Given the description of an element on the screen output the (x, y) to click on. 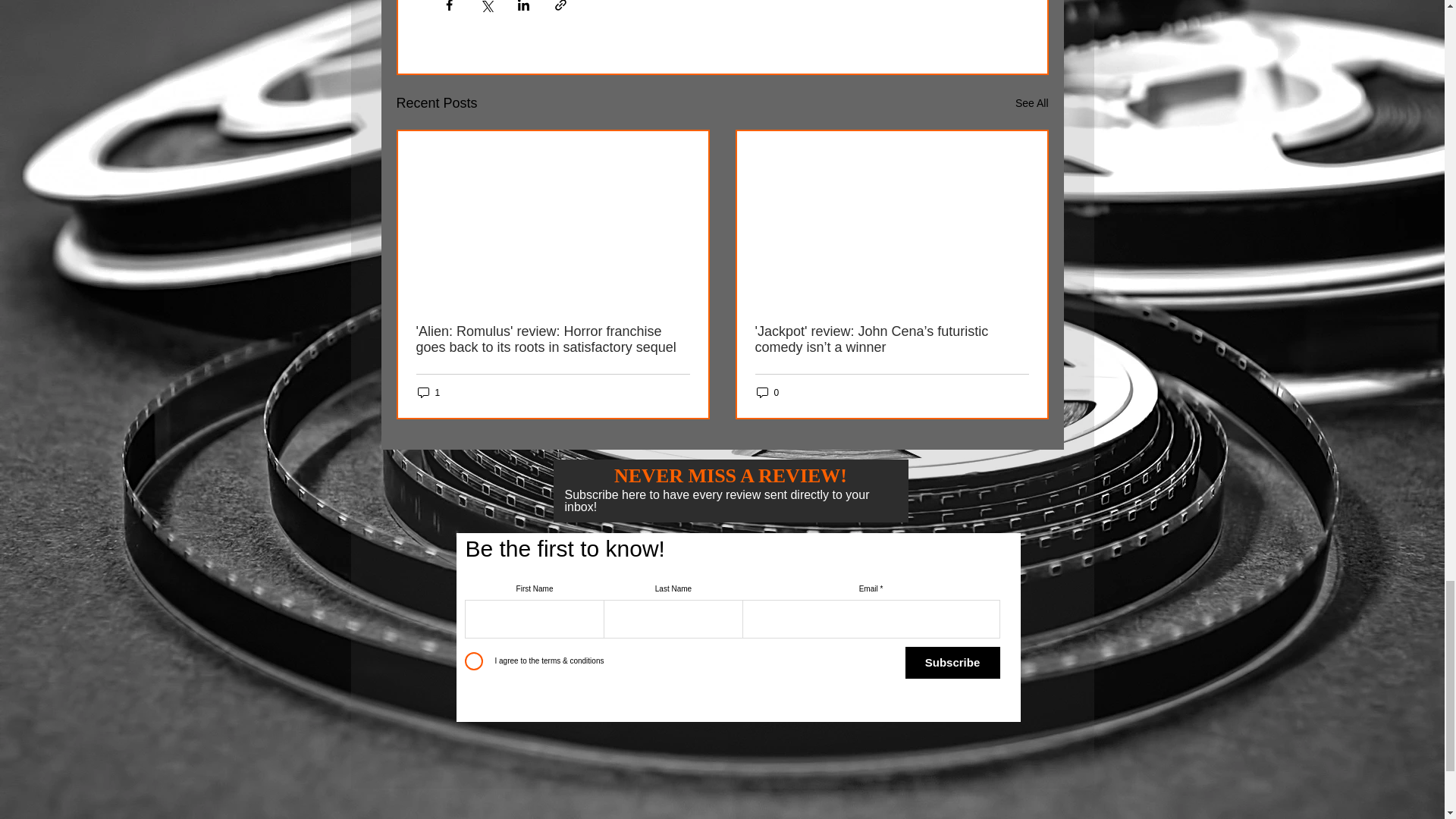
See All (1031, 103)
Subscribe (952, 662)
1 (427, 391)
0 (767, 391)
